Given the description of an element on the screen output the (x, y) to click on. 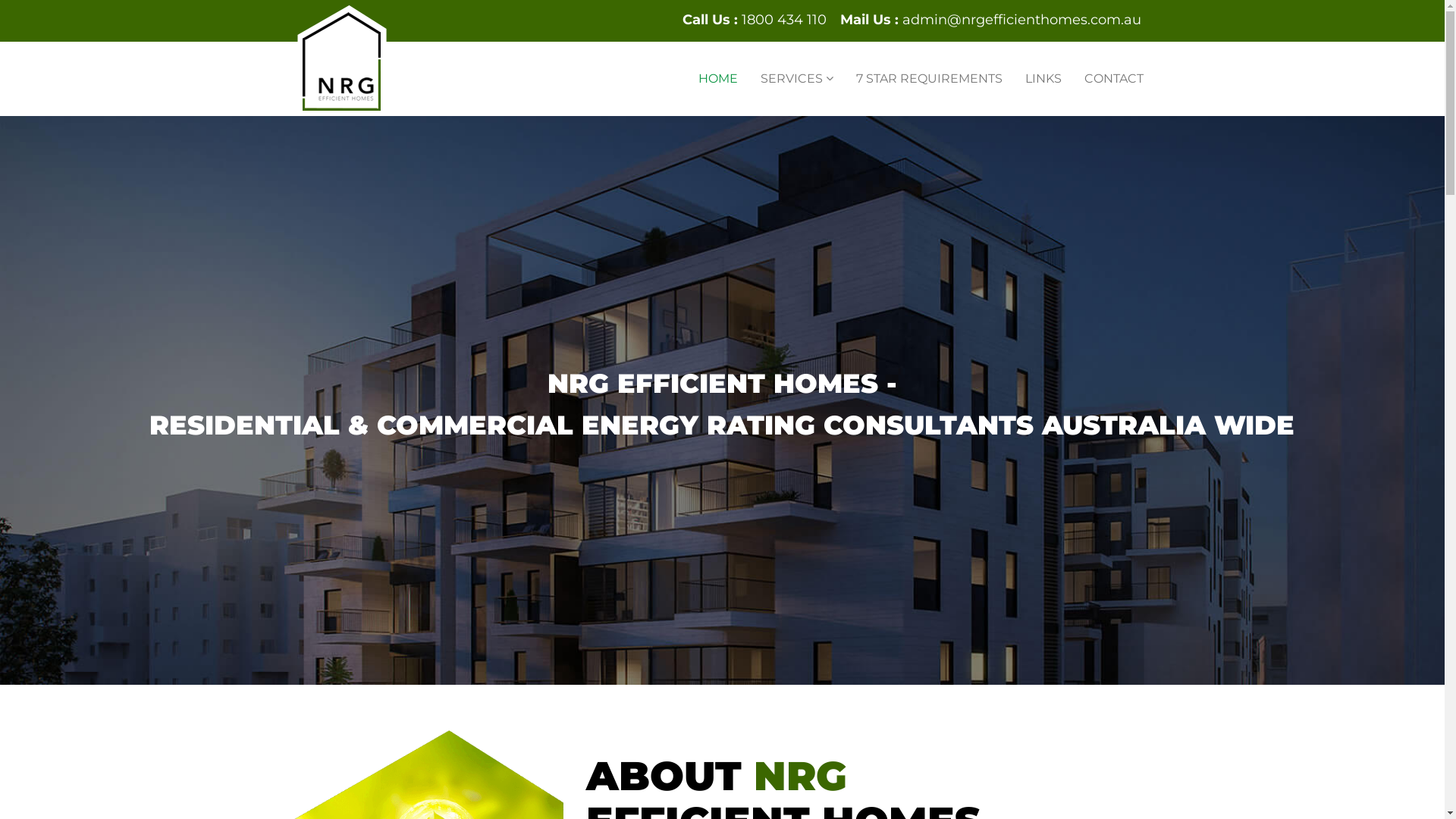
Call Us : 1800 434 110 Element type: text (754, 19)
SERVICES Element type: text (796, 78)
7 STAR REQUIREMENTS Element type: text (928, 78)
LINKS Element type: text (1042, 78)
HOME Element type: text (718, 78)
CONTACT Element type: text (1113, 78)
Mail Us : admin@nrgefficienthomes.com.au Element type: text (990, 19)
